Given the description of an element on the screen output the (x, y) to click on. 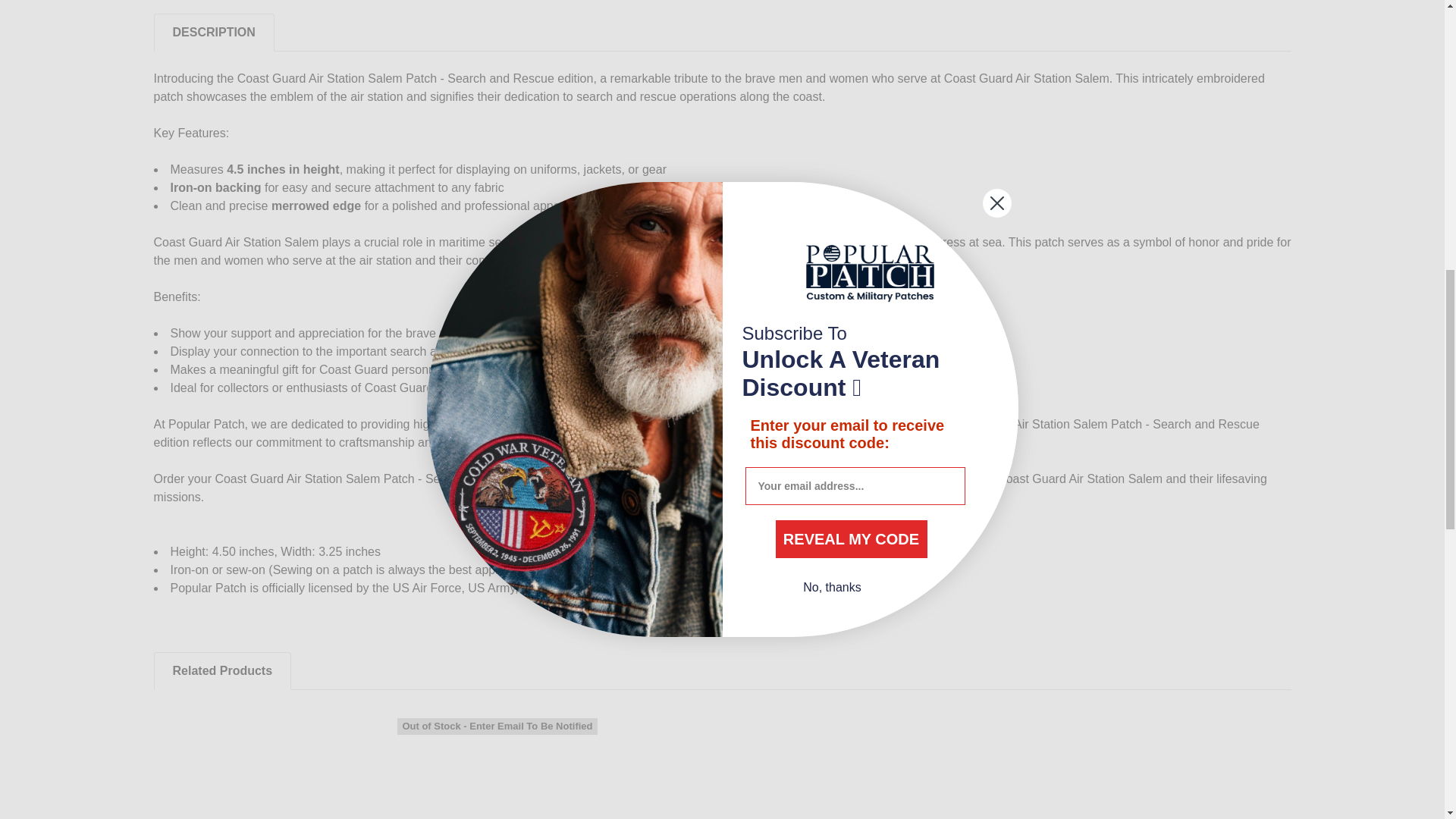
null (256, 768)
